Given the description of an element on the screen output the (x, y) to click on. 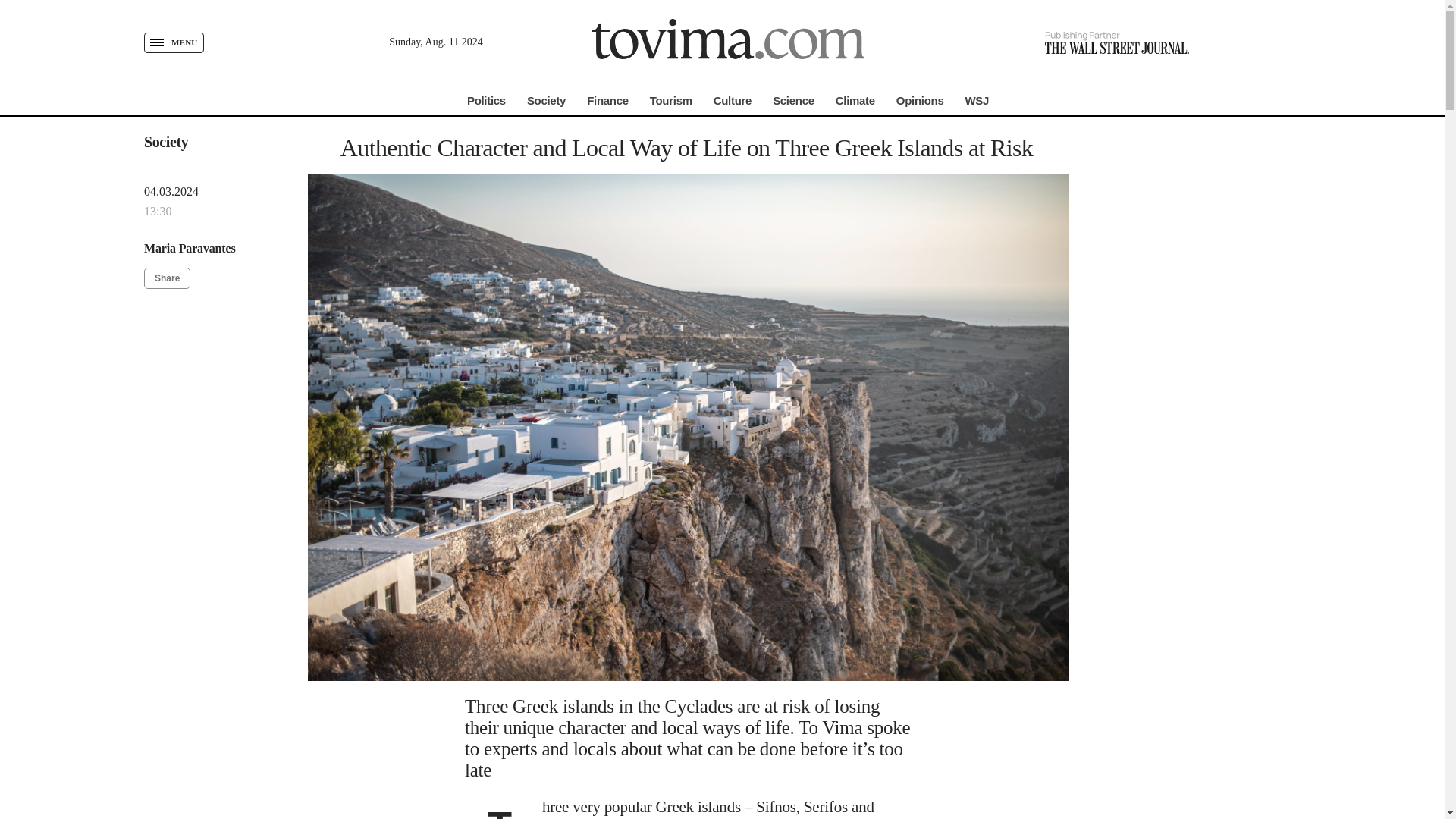
Finance (607, 100)
VIEW ALL Maria Paravantes (189, 247)
Maria Paravantes (189, 247)
tovima.com (727, 42)
Society (165, 141)
Tourism (671, 100)
WSJ (975, 100)
Science (793, 100)
Opinions (919, 100)
Society (546, 100)
